Given the description of an element on the screen output the (x, y) to click on. 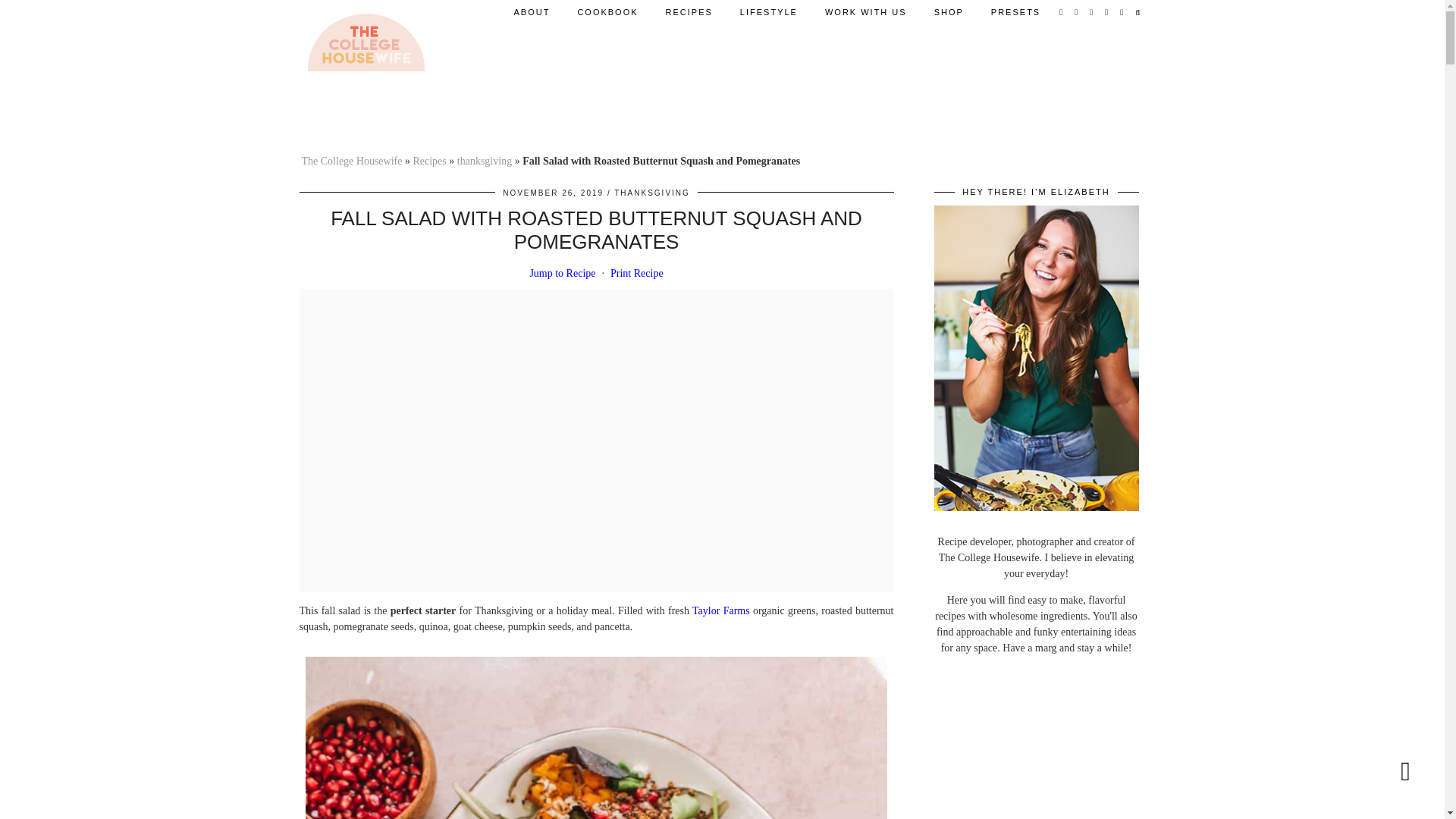
The College Housewife (352, 161)
thanksgiving (484, 161)
ABOUT (531, 12)
Jump to Recipe (561, 273)
THANKSGIVING (652, 193)
College Housewife (365, 43)
RECIPES (689, 12)
Recipes (428, 161)
PRESETS (1015, 12)
LIFESTYLE (768, 12)
